Given the description of an element on the screen output the (x, y) to click on. 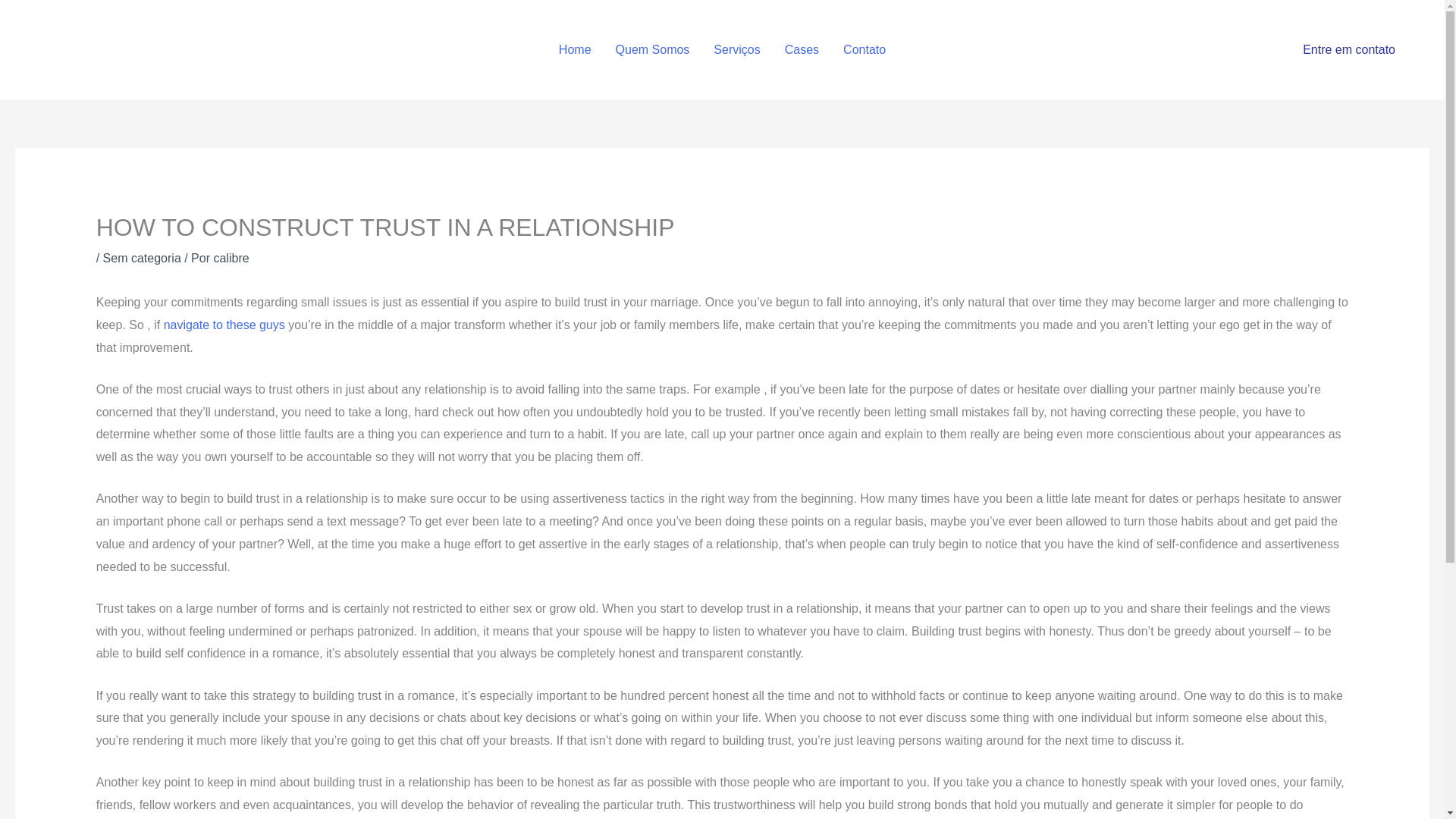
Ver todos os posts de calibre (230, 257)
Sem categoria (141, 257)
Quem Somos (652, 49)
navigate to these guys (224, 324)
Entre em contato (1348, 49)
Contato (864, 49)
calibre (230, 257)
Home (575, 49)
Cases (802, 49)
